Given the description of an element on the screen output the (x, y) to click on. 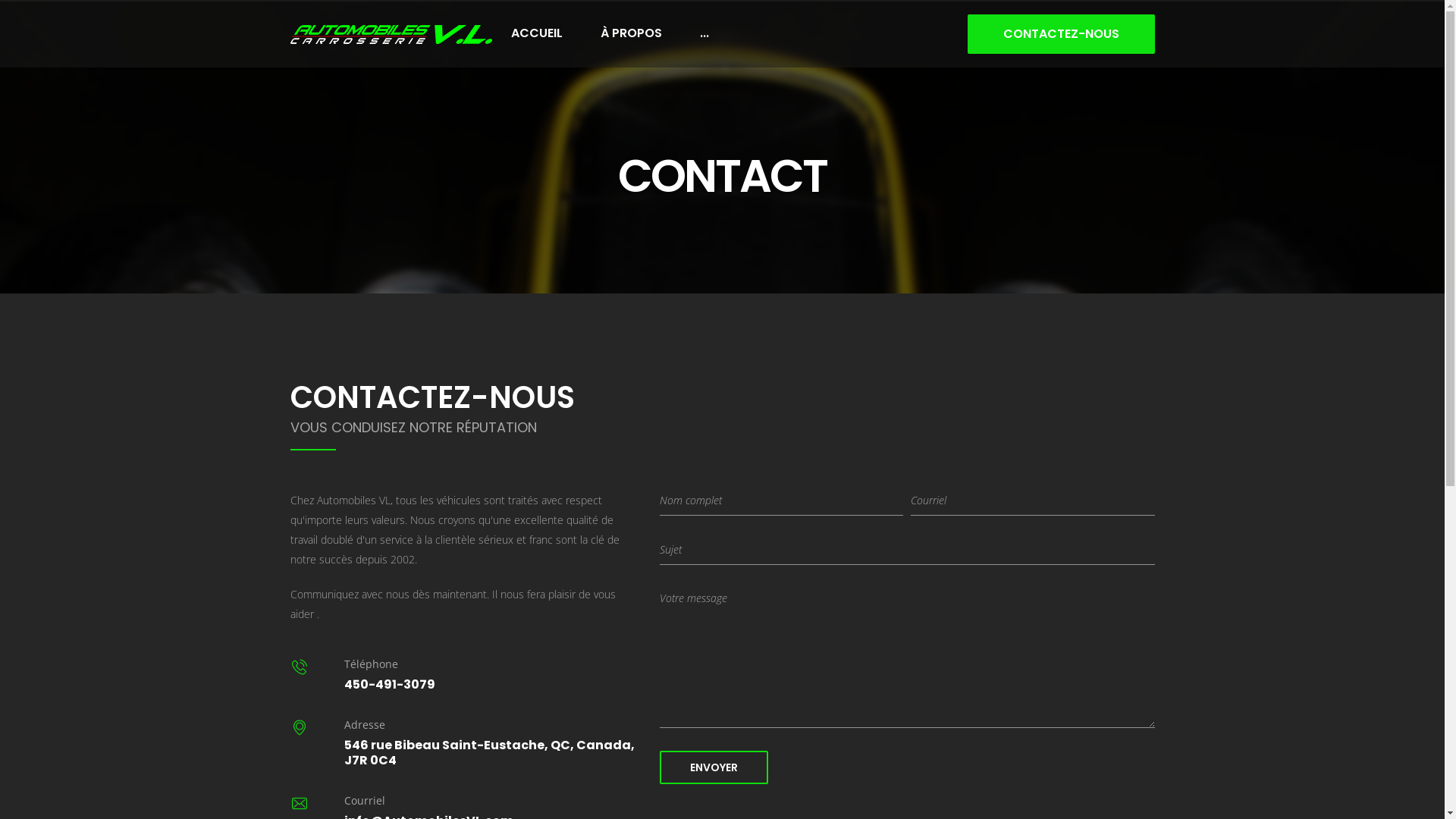
... Element type: text (704, 33)
CONTACTEZ-NOUS Element type: text (1060, 33)
ENVOYER Element type: text (713, 767)
ACCUEIL Element type: text (535, 33)
